Given the description of an element on the screen output the (x, y) to click on. 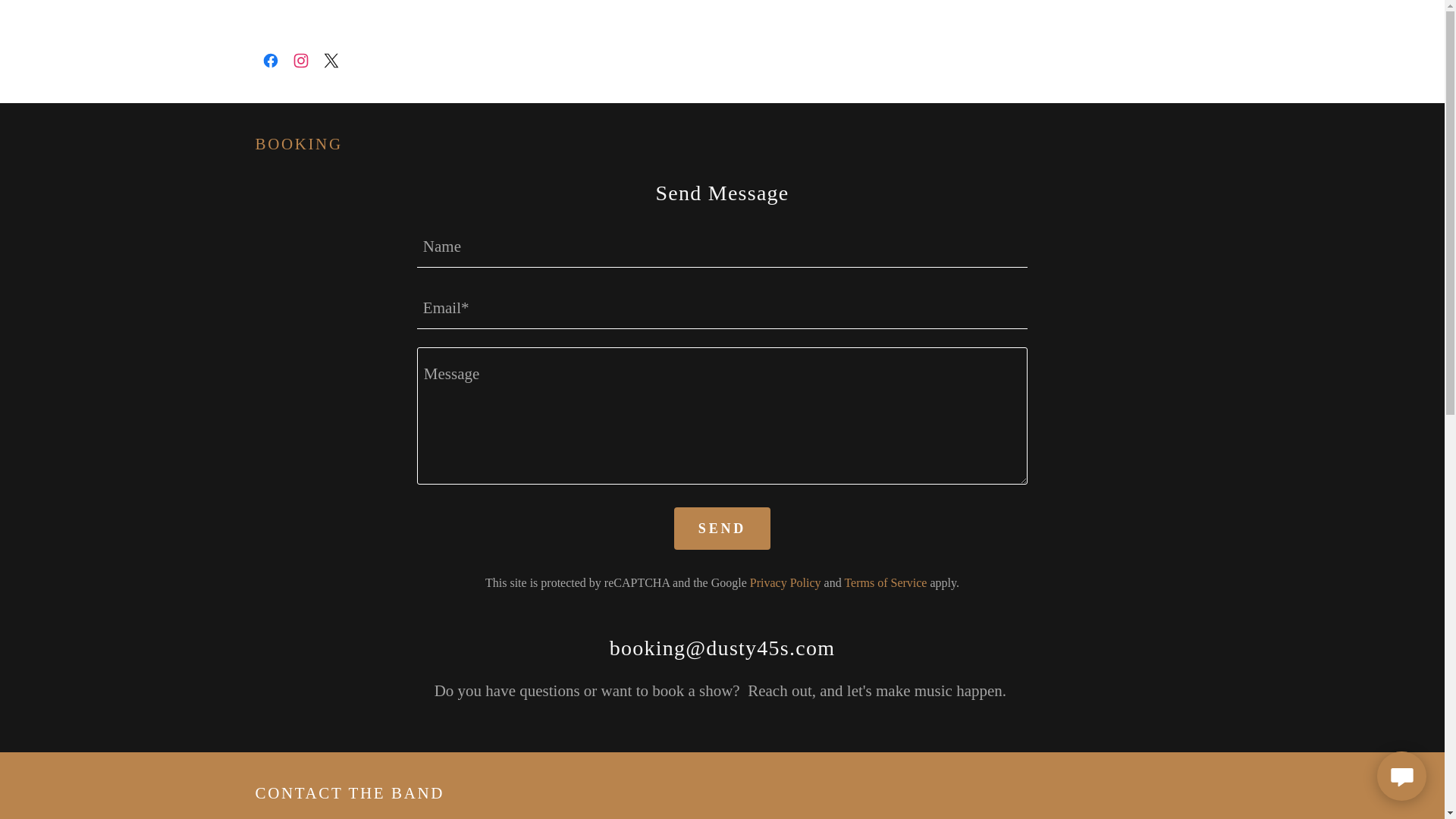
SEND (722, 527)
Terms of Service (885, 582)
Privacy Policy (785, 582)
